Given the description of an element on the screen output the (x, y) to click on. 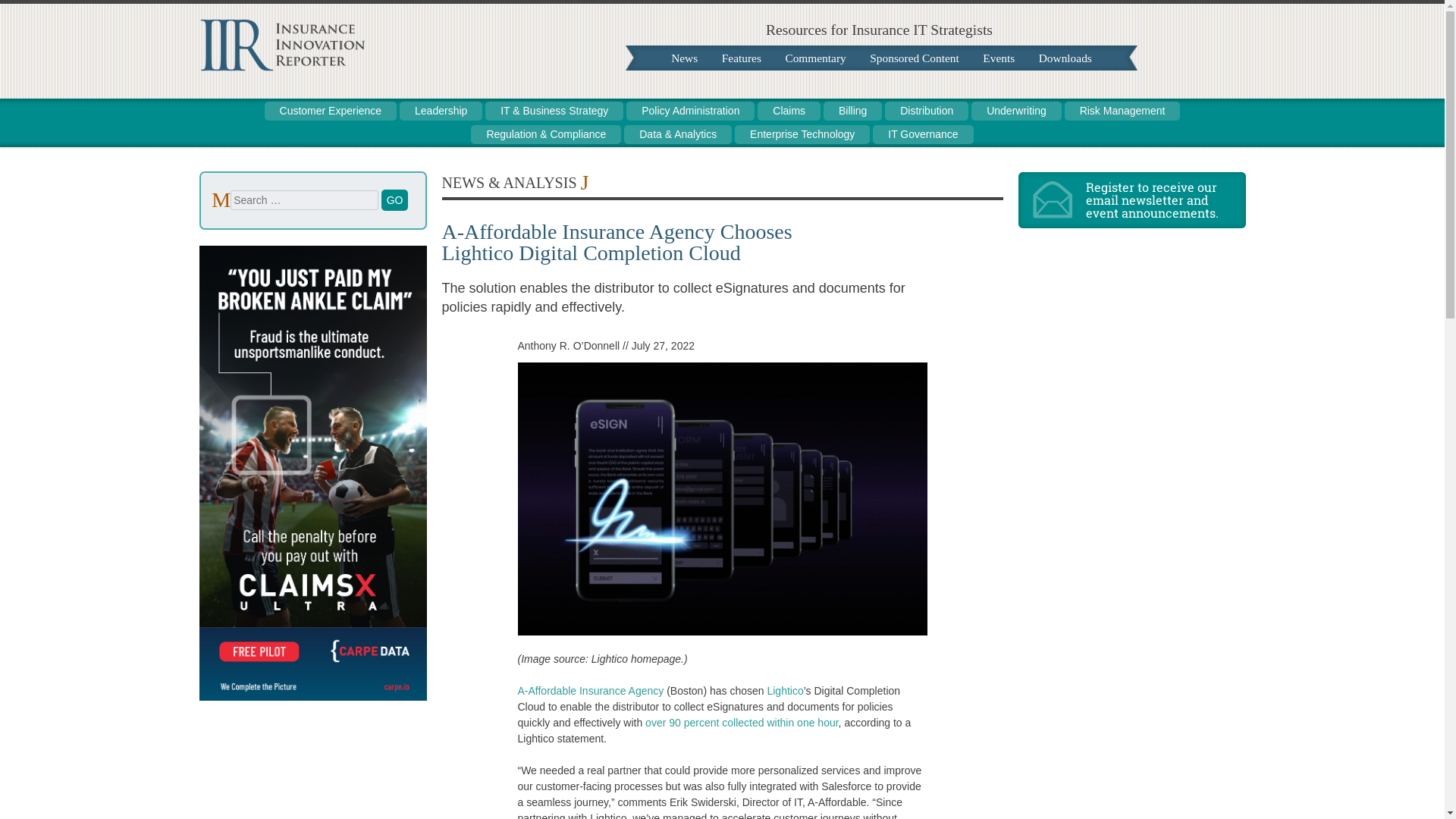
Distribution (926, 110)
A-Affordable Insurance Agency (589, 690)
Leadership (439, 110)
Downloads (1064, 57)
Claims (789, 110)
News (684, 57)
Sponsored Content (914, 57)
Billing (853, 110)
Customer Experience (330, 110)
Policy Administration (690, 110)
